Given the description of an element on the screen output the (x, y) to click on. 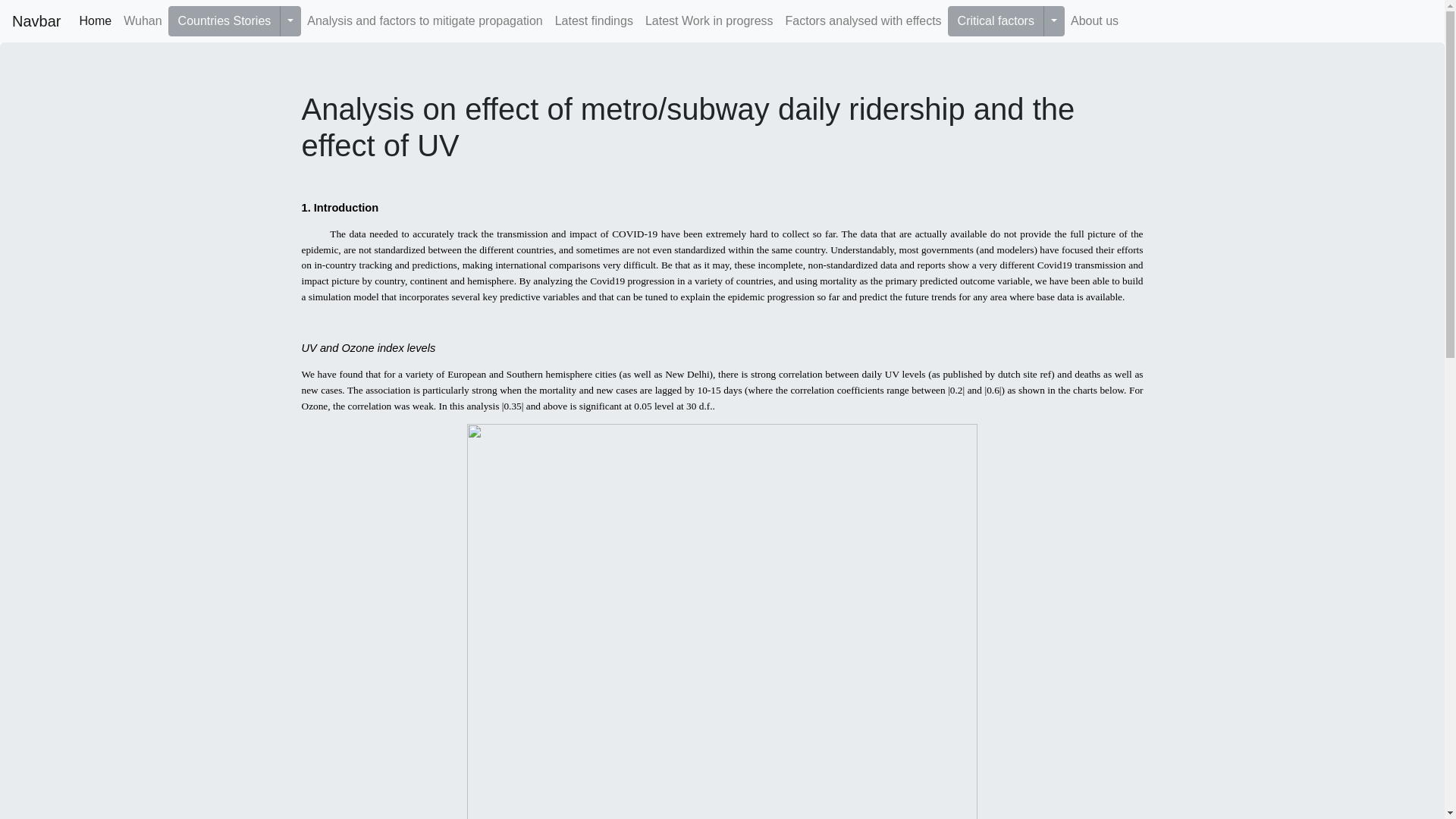
Latest findings (593, 20)
About us (1094, 20)
Critical factors (995, 20)
Factors analysed with effects (862, 20)
Latest Work in progress (708, 20)
Home (94, 20)
Wuhan (142, 20)
Analysis and factors to mitigate propagation (424, 20)
Countries Stories (224, 20)
Navbar (36, 20)
